Given the description of an element on the screen output the (x, y) to click on. 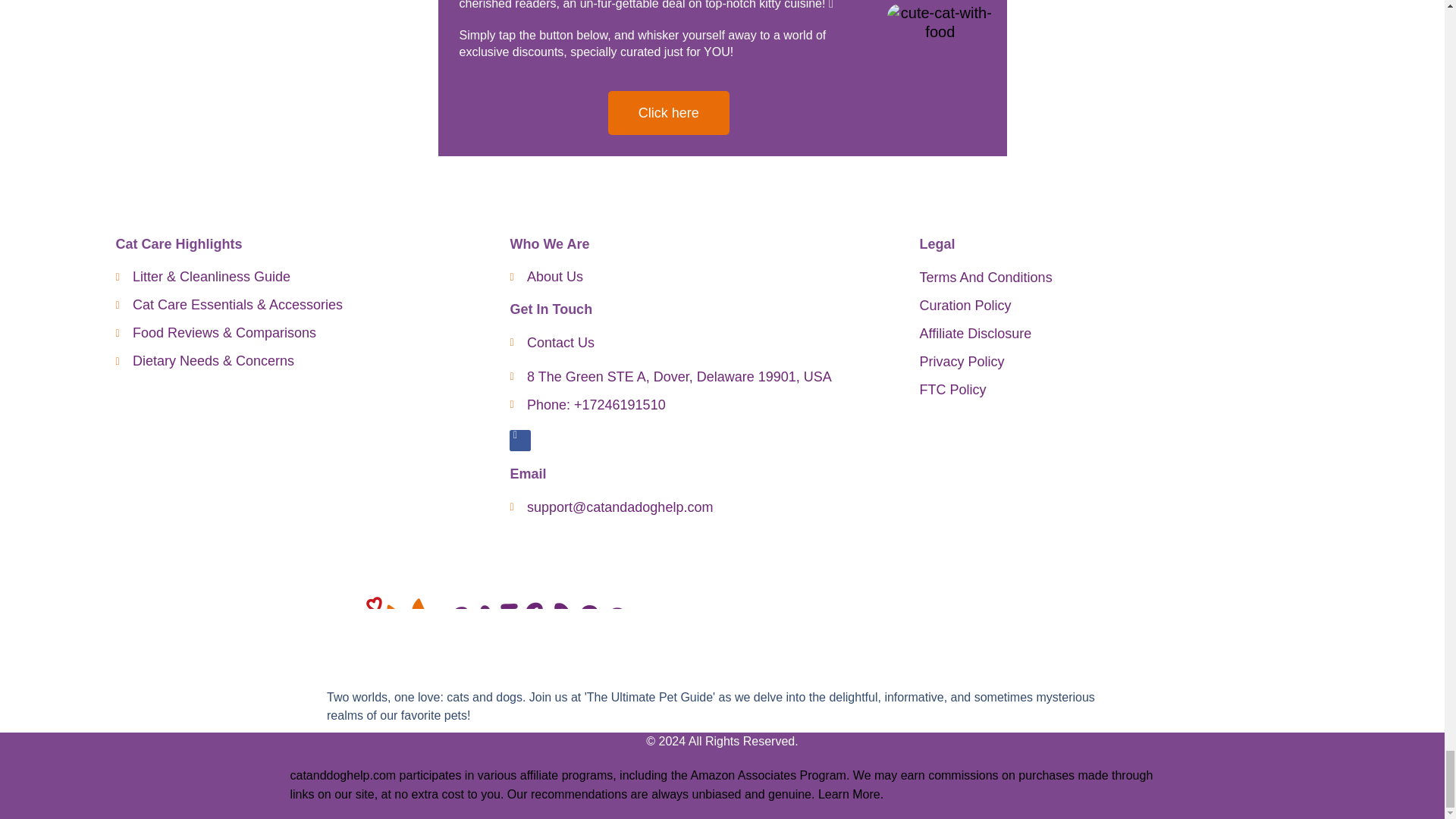
About Us (706, 276)
Click here (668, 112)
Contact Us (706, 342)
